Given the description of an element on the screen output the (x, y) to click on. 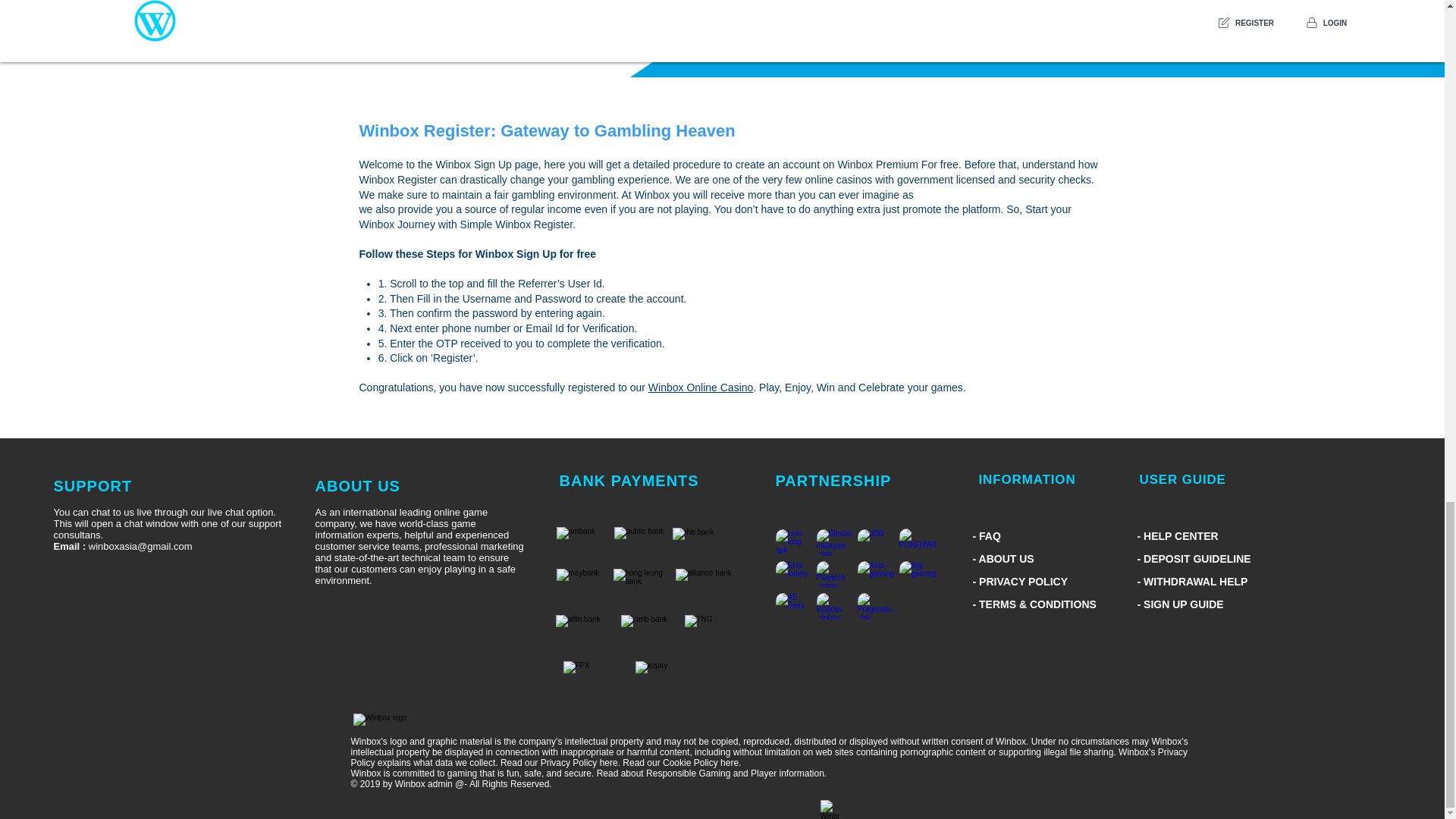
TNG.png (703, 584)
TNG.png (585, 543)
Lion King (834, 542)
Lion King (793, 574)
TNG.png (642, 543)
TNG.png (640, 584)
Lion King (875, 542)
TNG.png (712, 631)
TNG.png (583, 631)
Lion King (917, 541)
Lion King (875, 574)
Lion King (917, 574)
TNG.png (591, 677)
TNG.png (649, 631)
TNG.png (700, 544)
